Given the description of an element on the screen output the (x, y) to click on. 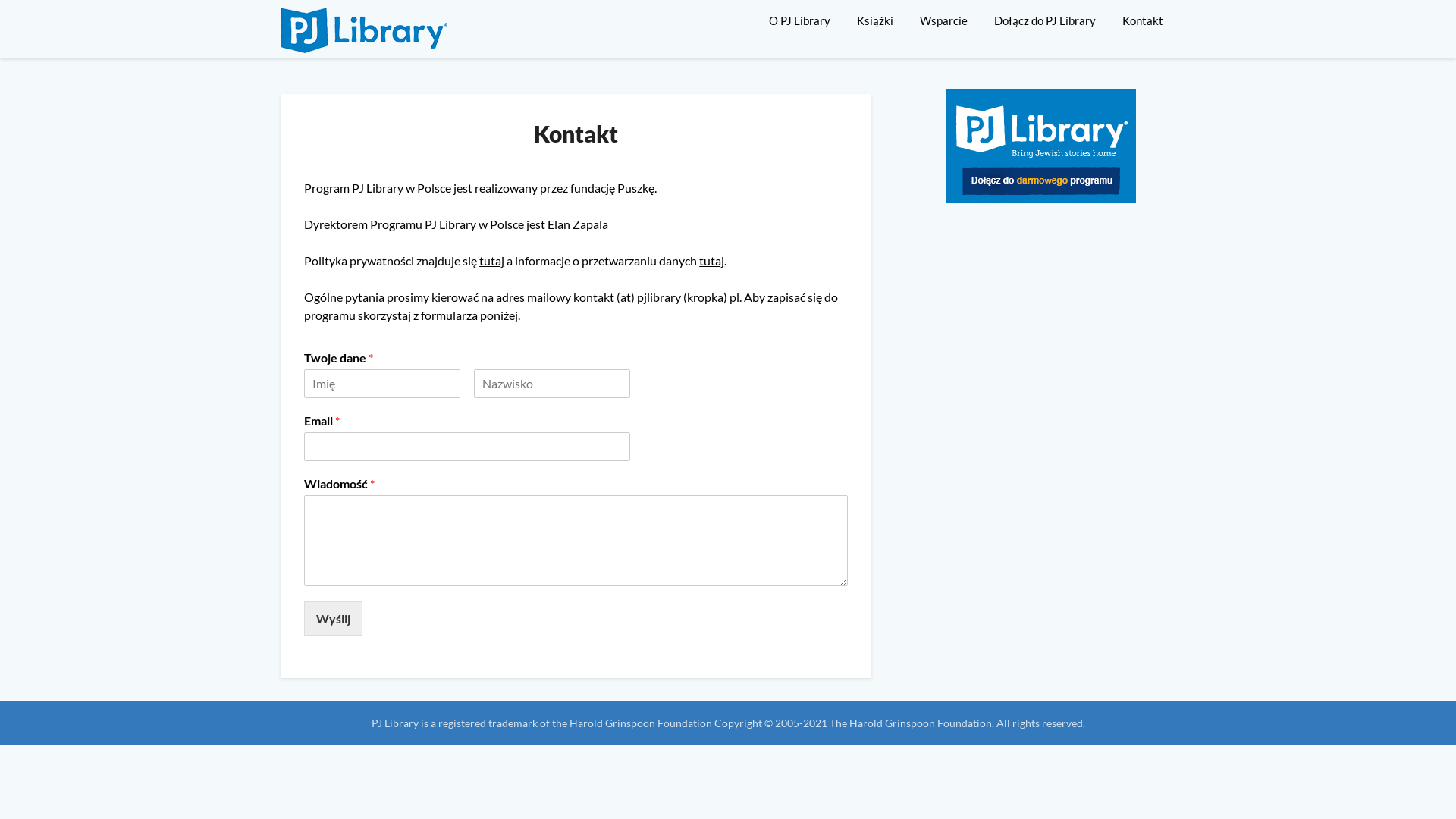
Wsparcie Element type: text (943, 20)
O PJ Library Element type: text (805, 20)
tutaj Element type: text (491, 260)
tutaj Element type: text (711, 260)
Kontakt Element type: text (1142, 20)
